Given the description of an element on the screen output the (x, y) to click on. 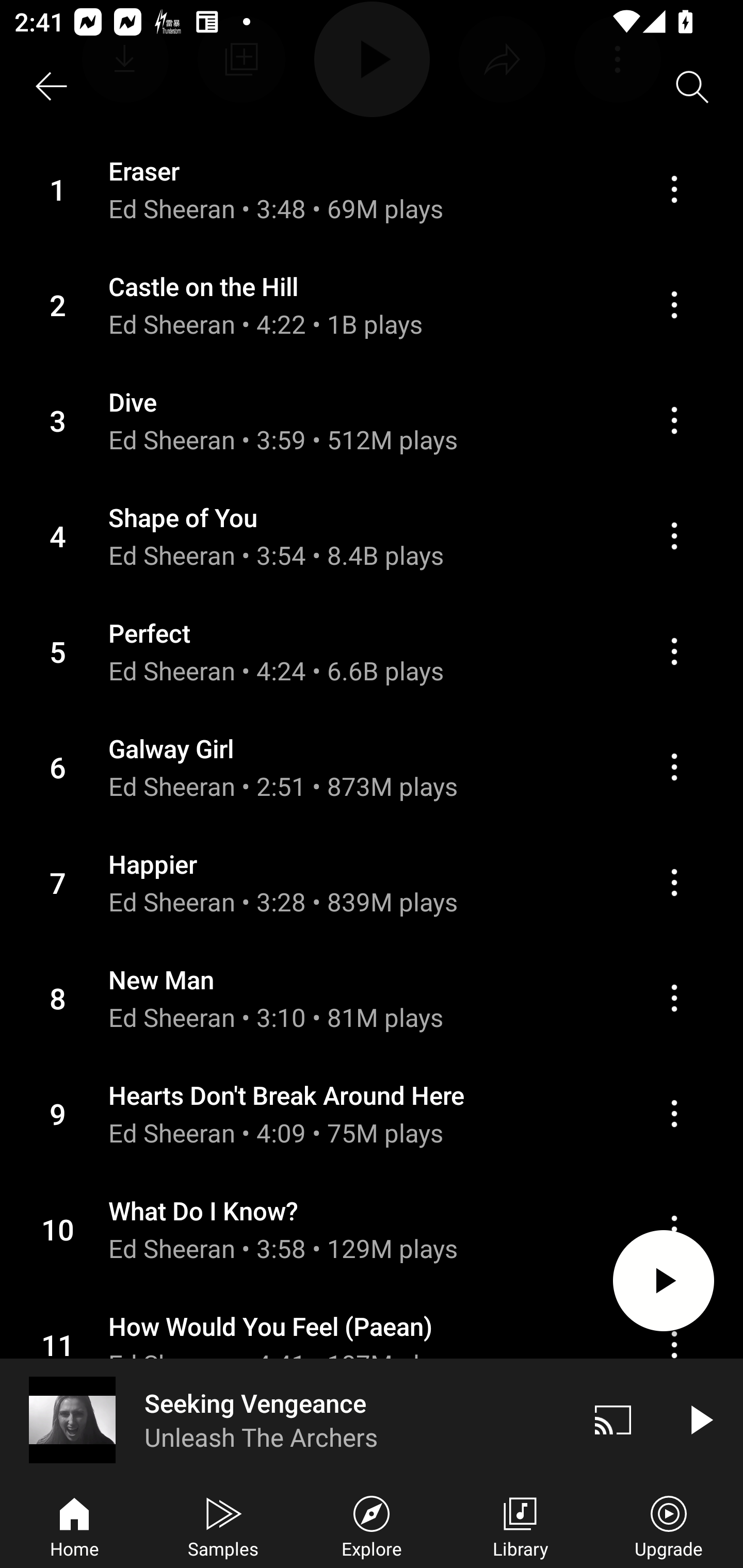
Back (50, 86)
Search (692, 86)
Action menu (371, 189)
Action menu (673, 188)
Action menu (371, 304)
Action menu (673, 304)
Action menu (371, 420)
Action menu (673, 420)
Action menu (371, 536)
Action menu (673, 535)
Action menu (371, 651)
Action menu (673, 651)
Action menu (371, 766)
Action menu (673, 767)
Action menu (371, 882)
Action menu (673, 881)
Action menu (371, 997)
Action menu (673, 997)
Action menu (371, 1113)
Action menu (673, 1113)
Action menu (371, 1229)
PLAY ALL (663, 1280)
Seeking Vengeance Unleash The Archers (284, 1419)
Cast. Disconnected (612, 1419)
Play video (699, 1419)
Home (74, 1524)
Samples (222, 1524)
Explore (371, 1524)
Library (519, 1524)
Upgrade (668, 1524)
